Given the description of an element on the screen output the (x, y) to click on. 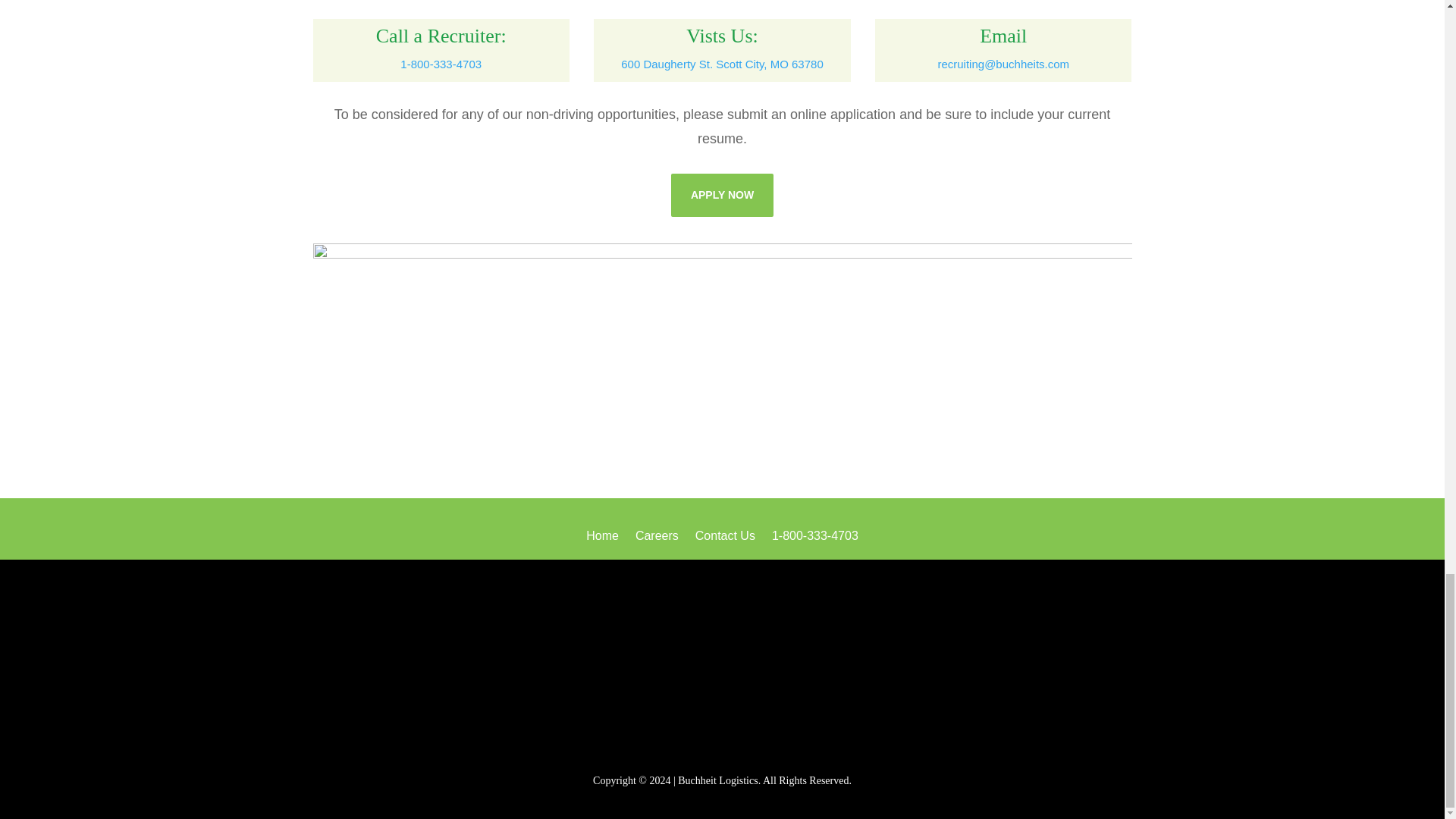
APPLY NOW (722, 194)
Home (602, 538)
600 Daugherty St. Scott City, MO 63780 (722, 63)
Careers (656, 538)
1-800-333-4703 (440, 63)
